Given the description of an element on the screen output the (x, y) to click on. 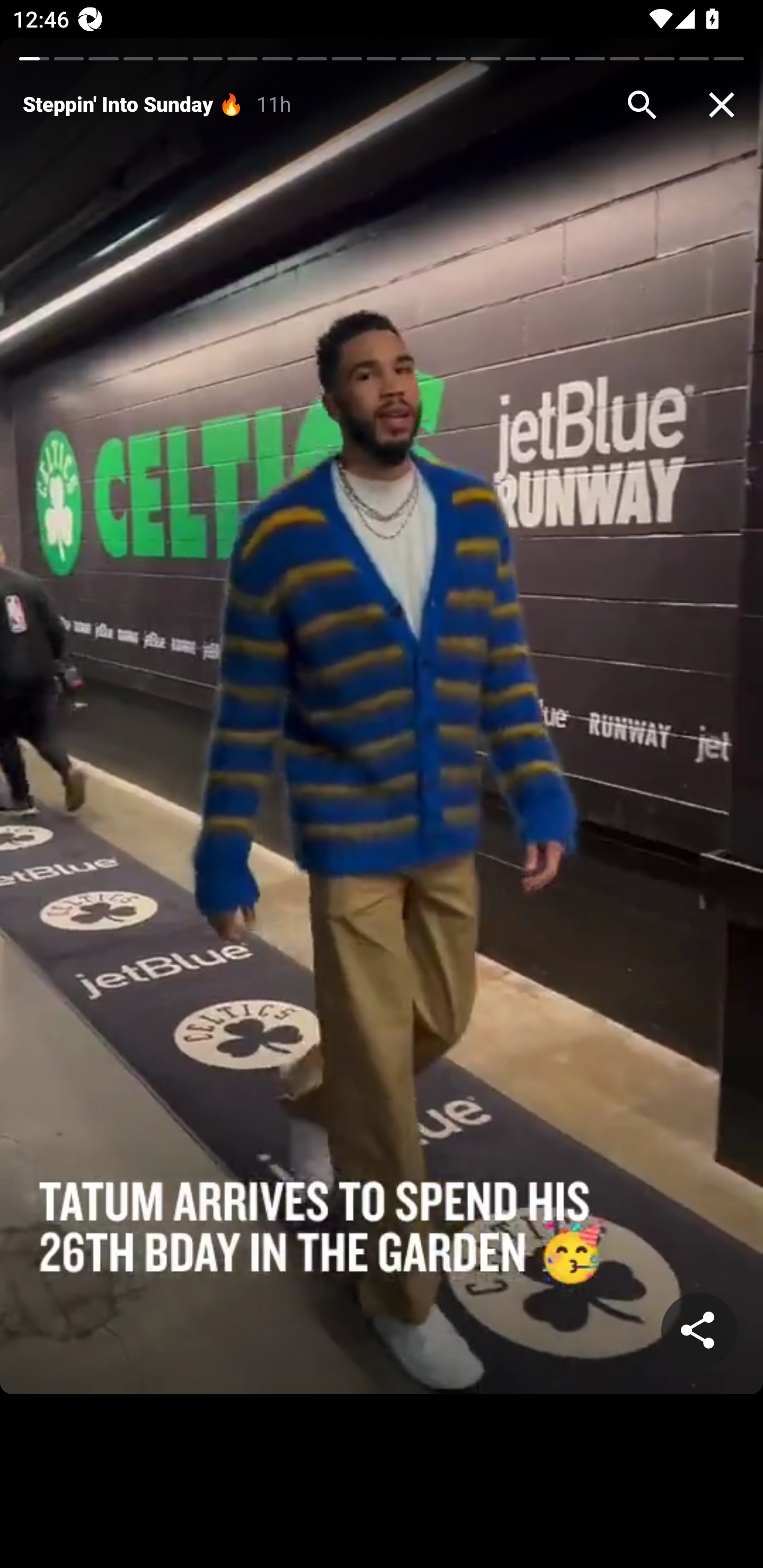
search (642, 104)
close (721, 104)
share (699, 1330)
